Given the description of an element on the screen output the (x, y) to click on. 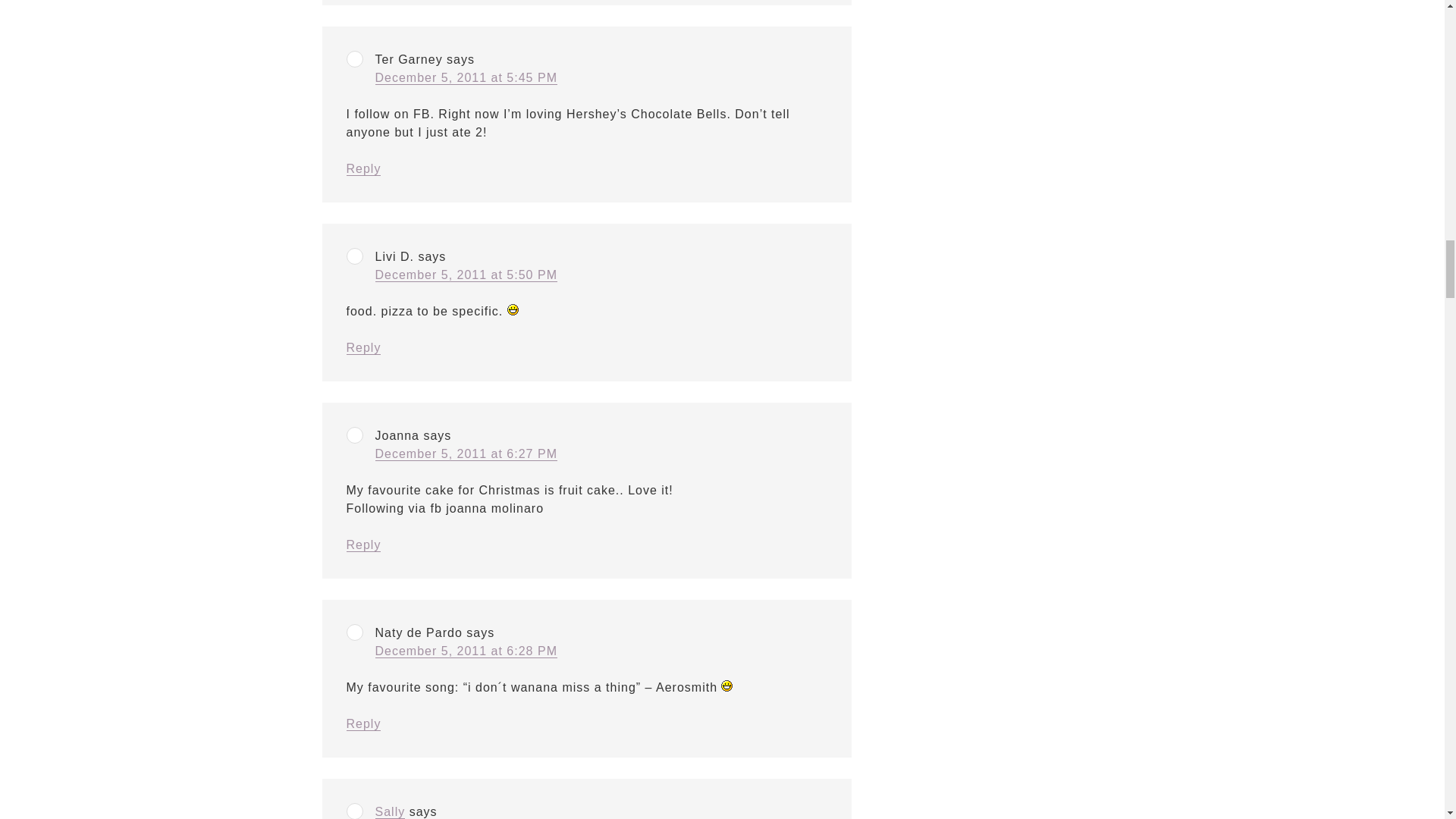
Reply (363, 169)
Reply (363, 545)
Reply (363, 347)
December 5, 2011 at 5:45 PM (465, 78)
December 5, 2011 at 6:27 PM (465, 454)
December 5, 2011 at 6:28 PM (465, 651)
December 5, 2011 at 5:50 PM (465, 274)
Reply (363, 724)
